Given the description of an element on the screen output the (x, y) to click on. 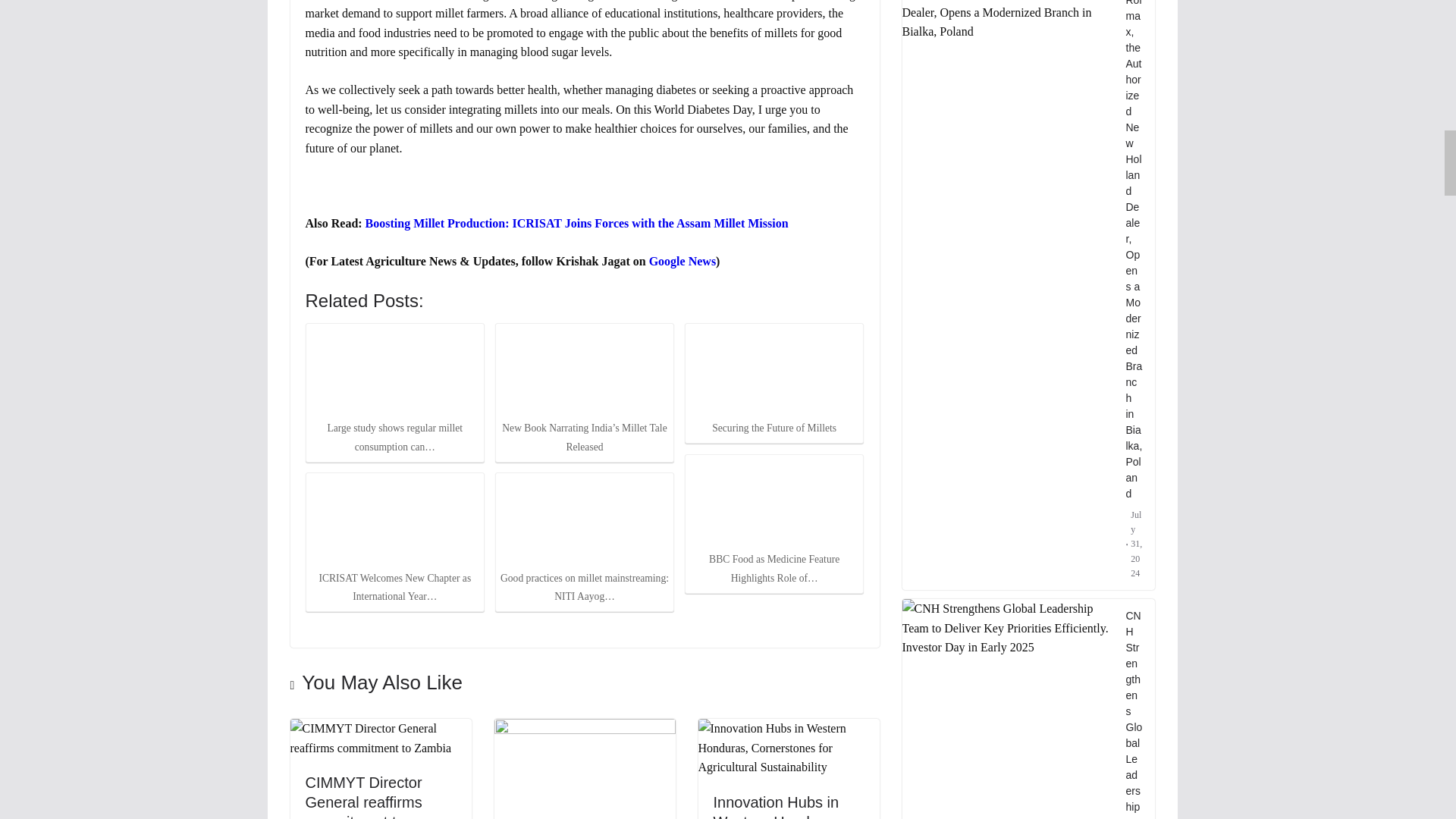
Securing the Future of Millets (774, 370)
